Given the description of an element on the screen output the (x, y) to click on. 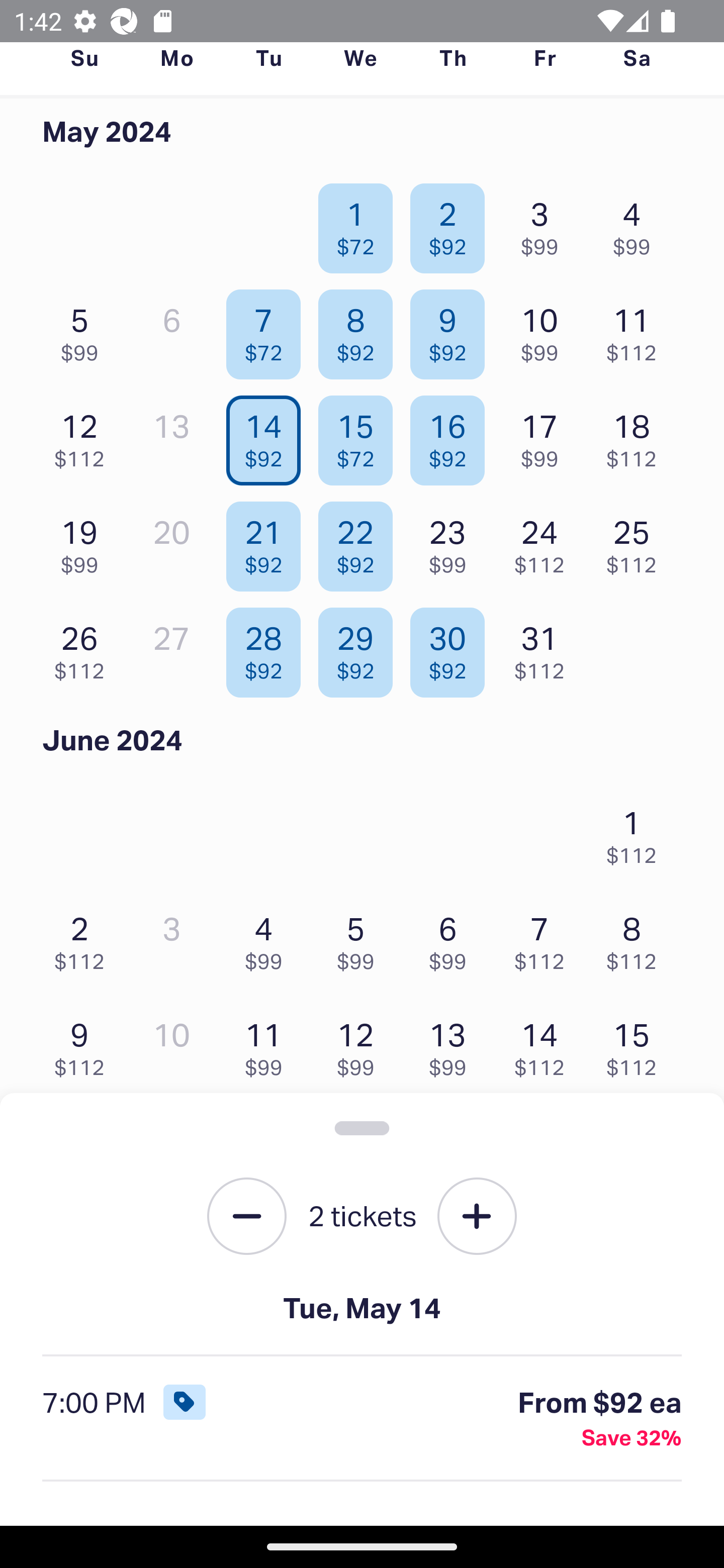
1 $72 (360, 223)
2 $92 (452, 223)
3 $99 (544, 223)
4 $99 (636, 223)
5 $99 (84, 329)
7 $72 (268, 329)
8 $92 (360, 329)
9 $92 (452, 329)
10 $99 (544, 329)
11 $112 (636, 329)
12 $112 (84, 435)
14 $92 (268, 435)
15 $72 (360, 435)
16 $92 (452, 435)
17 $99 (544, 435)
18 $112 (636, 435)
19 $99 (84, 541)
21 $92 (268, 541)
22 $92 (360, 541)
23 $99 (452, 541)
24 $112 (544, 541)
25 $112 (636, 541)
26 $112 (84, 647)
28 $92 (268, 647)
29 $92 (360, 647)
30 $92 (452, 647)
31 $112 (544, 647)
1 $112 (636, 831)
2 $112 (84, 938)
4 $99 (268, 938)
5 $99 (360, 938)
6 $99 (452, 938)
7 $112 (544, 938)
8 $112 (636, 938)
9 $112 (84, 1044)
11 $99 (268, 1044)
12 $99 (360, 1044)
13 $99 (452, 1044)
14 $112 (544, 1044)
15 $112 (636, 1044)
7:00 PM From $92 ea Save 32% (361, 1418)
